Given the description of an element on the screen output the (x, y) to click on. 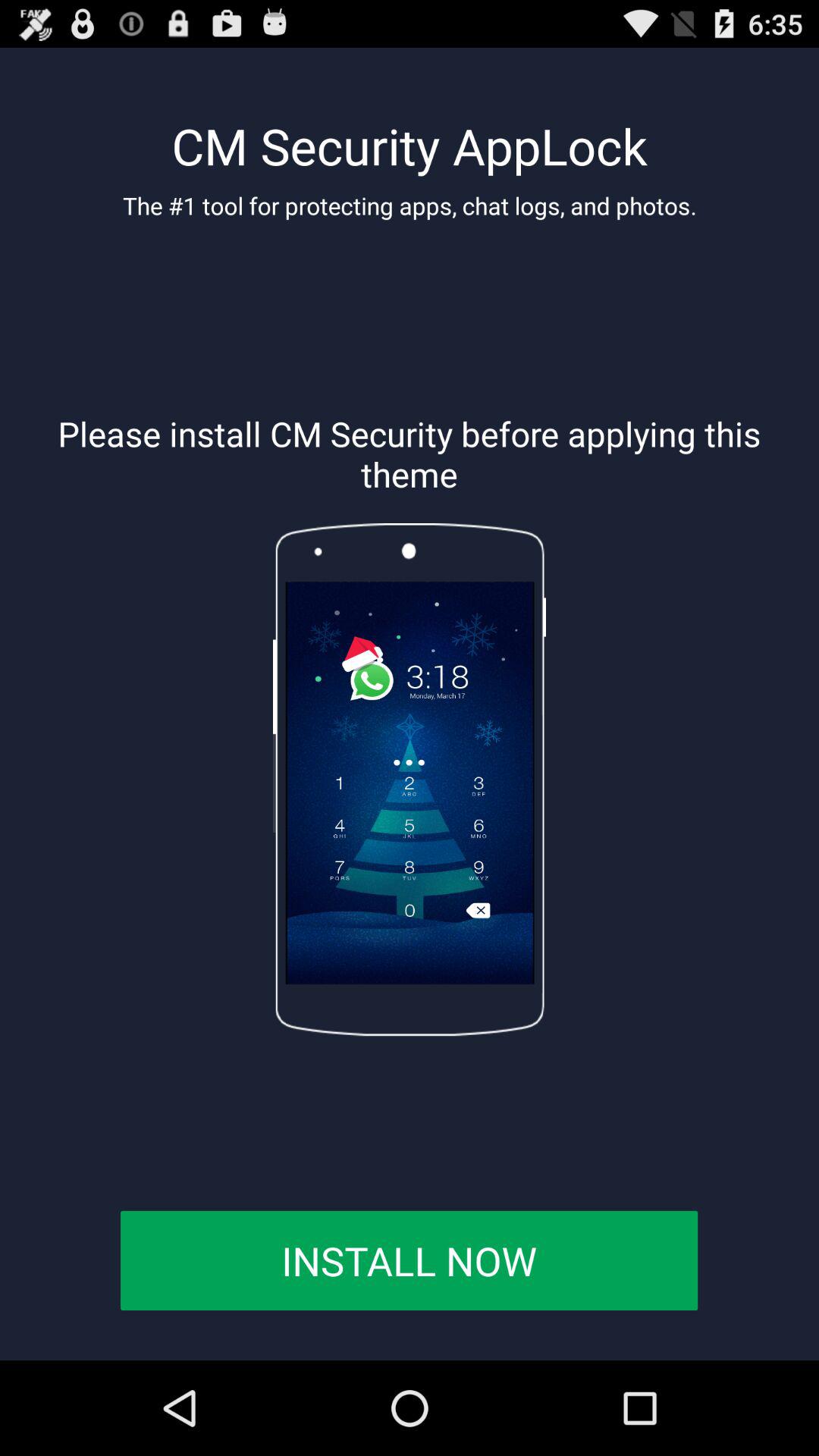
tap item at the bottom (408, 1260)
